Given the description of an element on the screen output the (x, y) to click on. 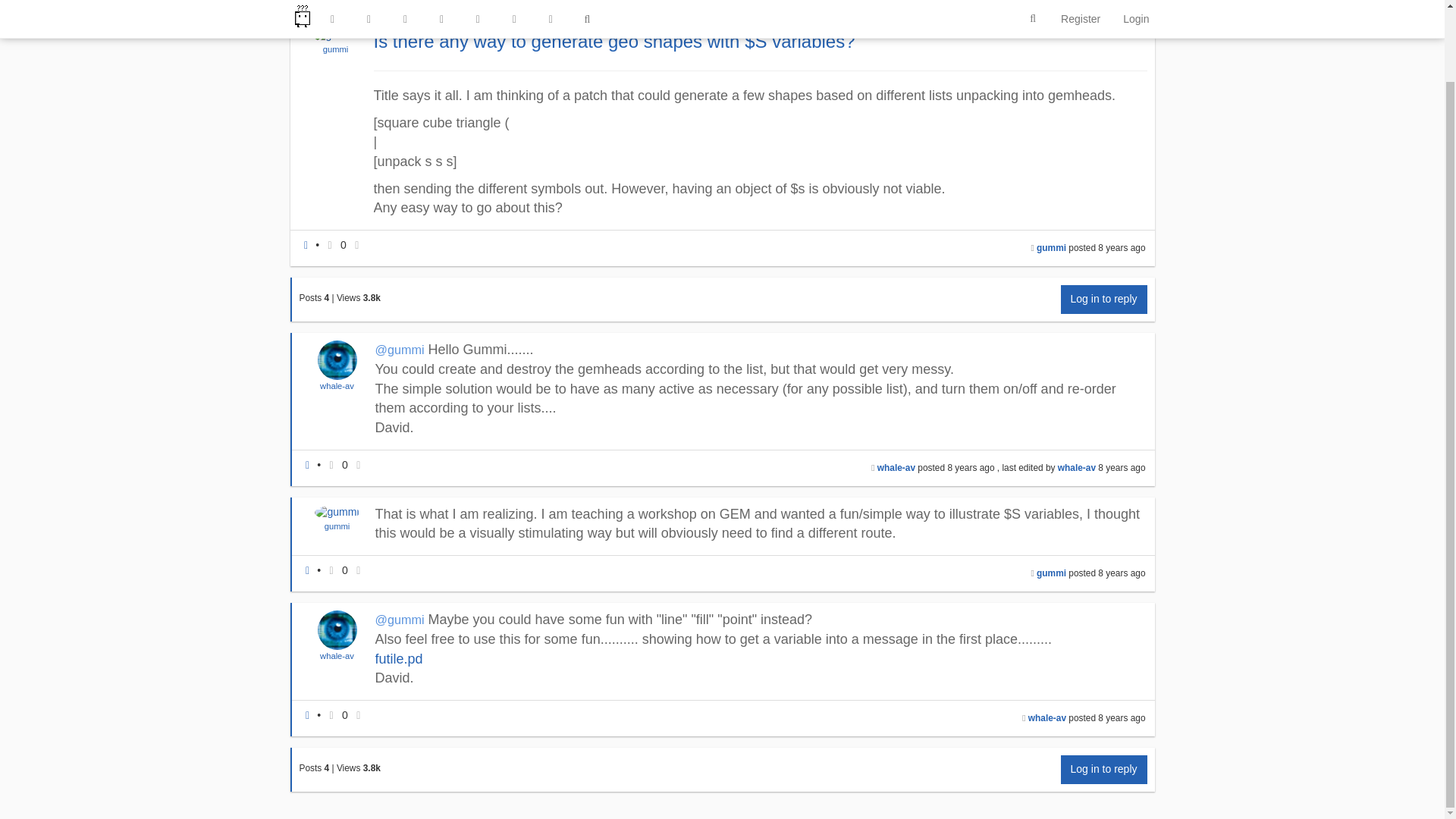
3814 (371, 297)
gummi (336, 49)
gummi (1050, 247)
gummi (335, 49)
whale-av (336, 385)
Log in to reply (1104, 299)
